Given the description of an element on the screen output the (x, y) to click on. 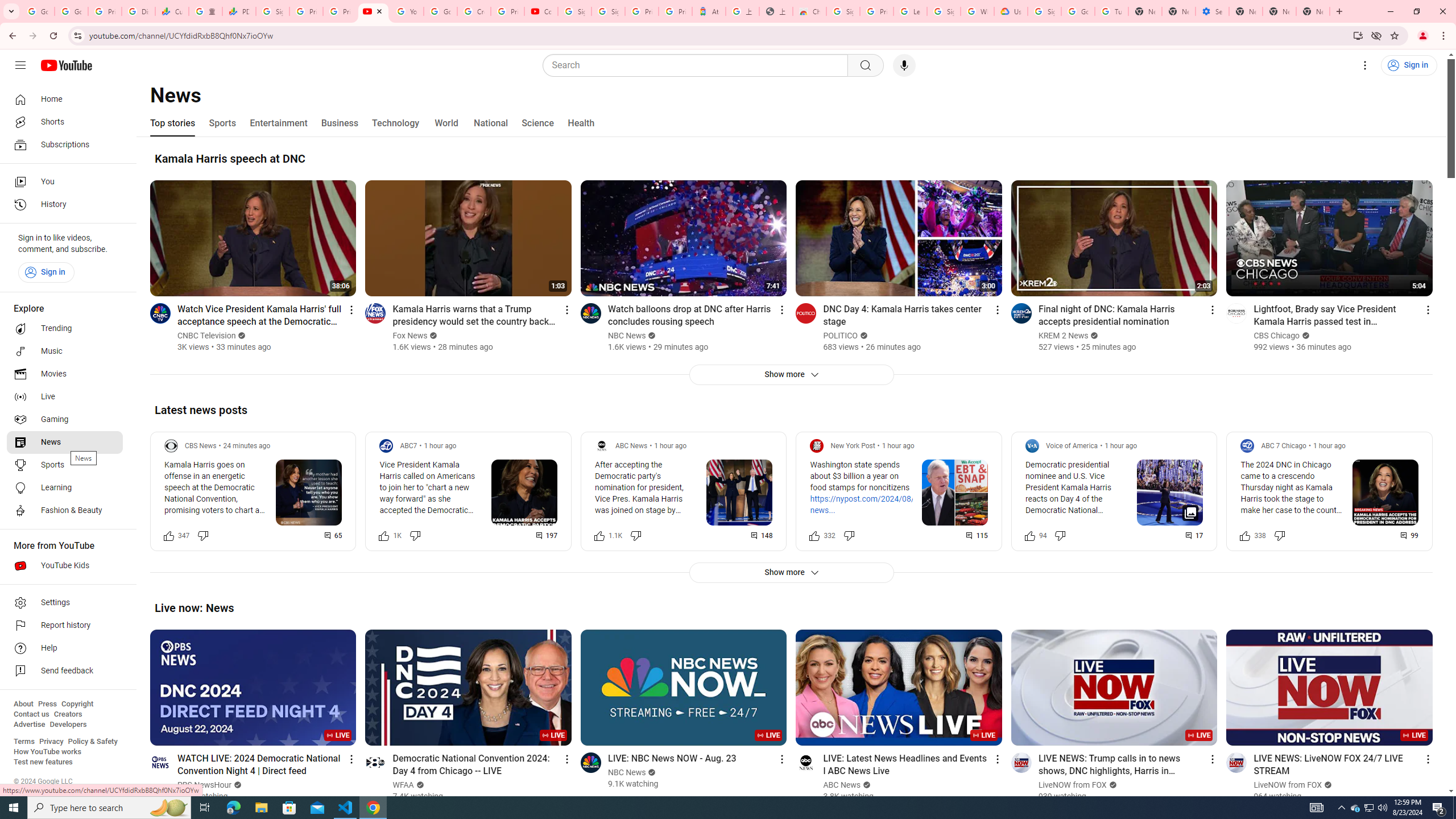
Show more (790, 572)
News (64, 441)
Sign in - Google Accounts (943, 11)
Sports (64, 464)
About (23, 703)
Like this post along with 338 other people (1245, 534)
KREM 2 News (1063, 335)
Verified (1327, 784)
Privacy Checkup (339, 11)
Who are Google's partners? - Privacy and conditions - Google (976, 11)
